Given the description of an element on the screen output the (x, y) to click on. 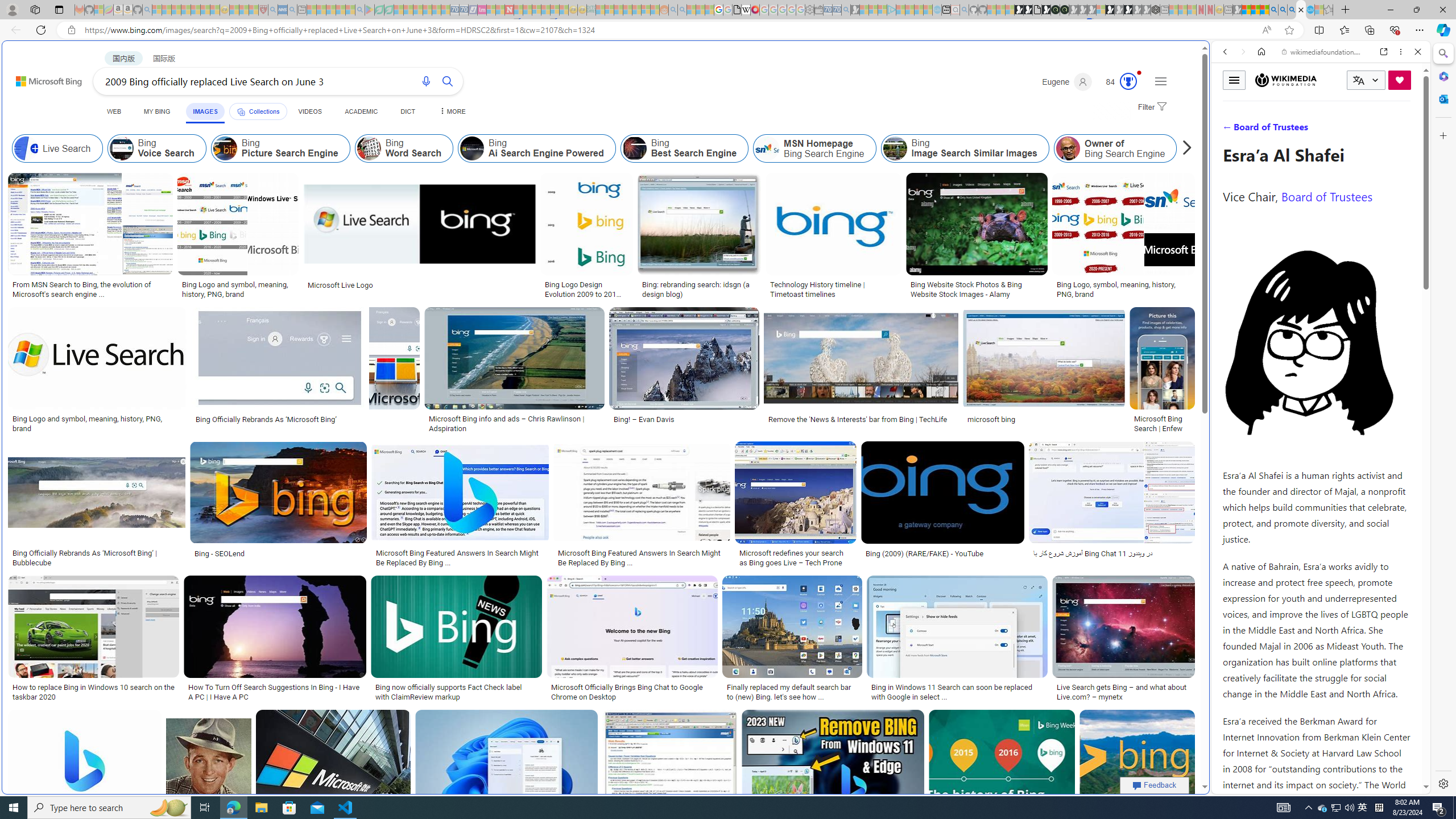
MORE (451, 111)
Bing Logo, symbol, meaning, history, PNG, brand (1124, 289)
Wikimedia Foundation (1285, 79)
AutomationID: rh_meter (1128, 80)
Jobs - lastminute.com Investor Portal - Sleeping (482, 9)
Home | Sky Blue Bikes - Sky Blue Bikes (1118, 242)
Microsoft Live Logo (339, 284)
Bing Image Search Similar Images (894, 148)
